Given the description of an element on the screen output the (x, y) to click on. 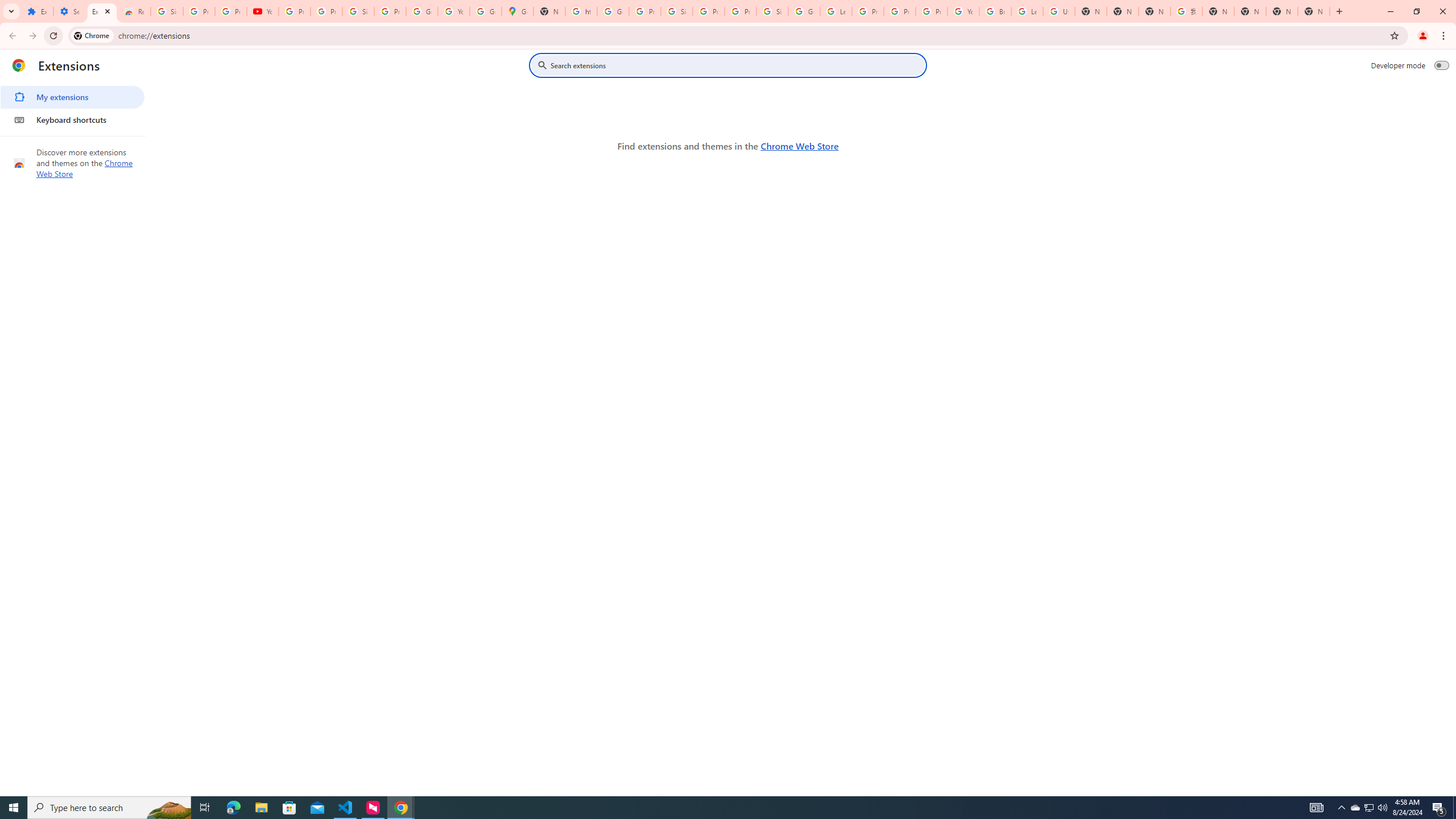
Sign in - Google Accounts (358, 11)
YouTube (262, 11)
